Given the description of an element on the screen output the (x, y) to click on. 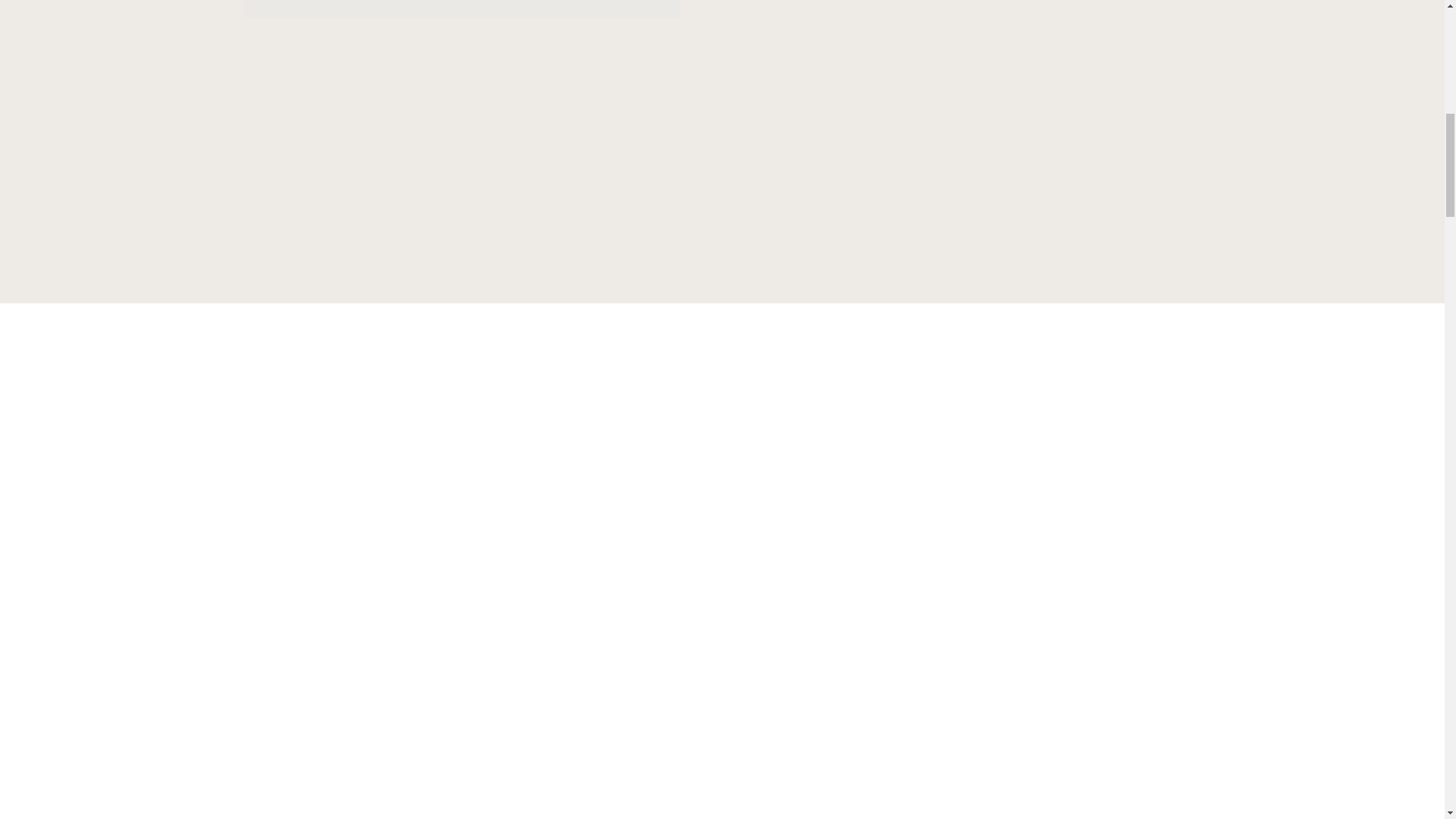
p-ourwork-macandipad-4 (461, 9)
